Given the description of an element on the screen output the (x, y) to click on. 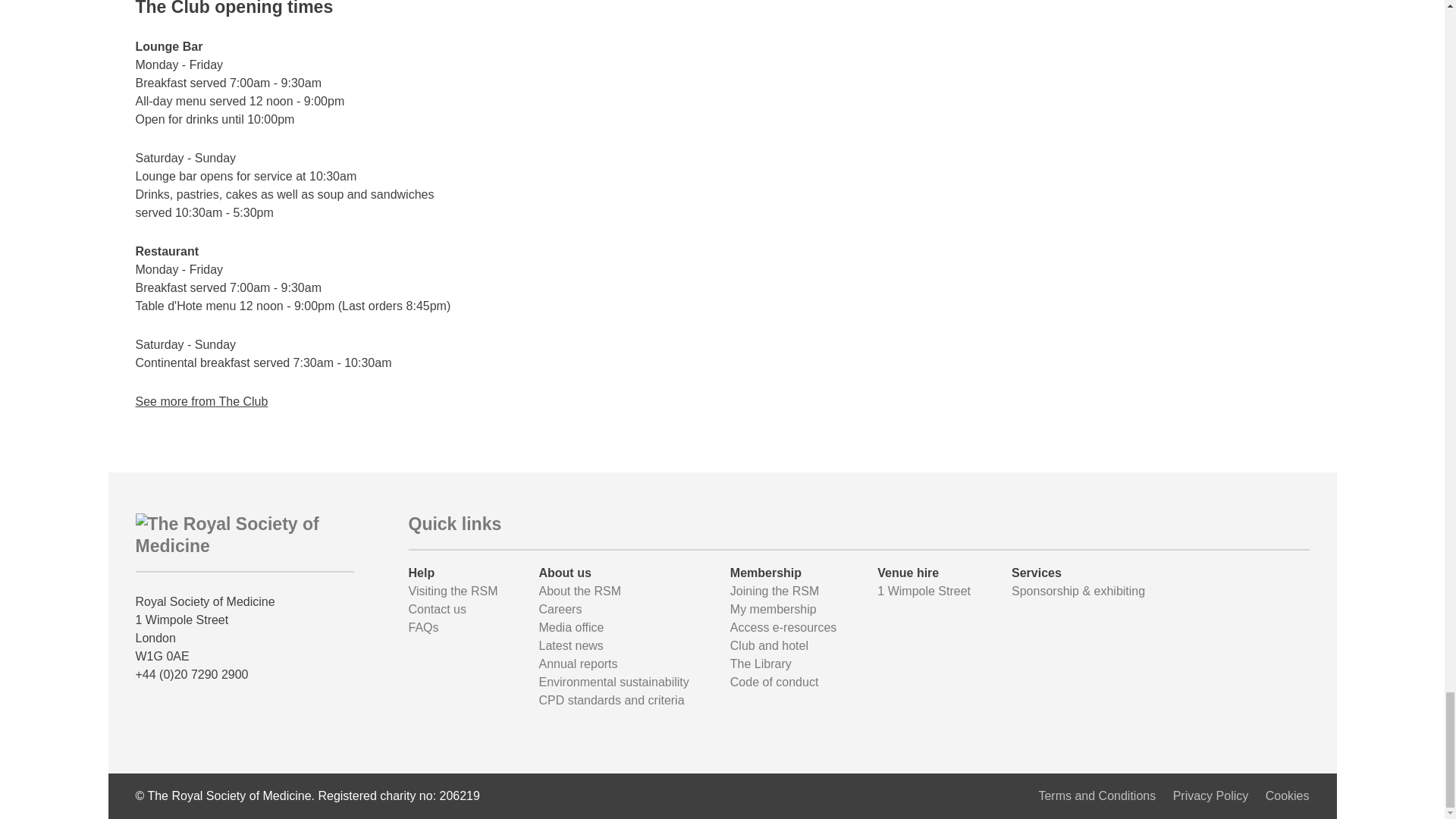
The Club (201, 400)
